Given the description of an element on the screen output the (x, y) to click on. 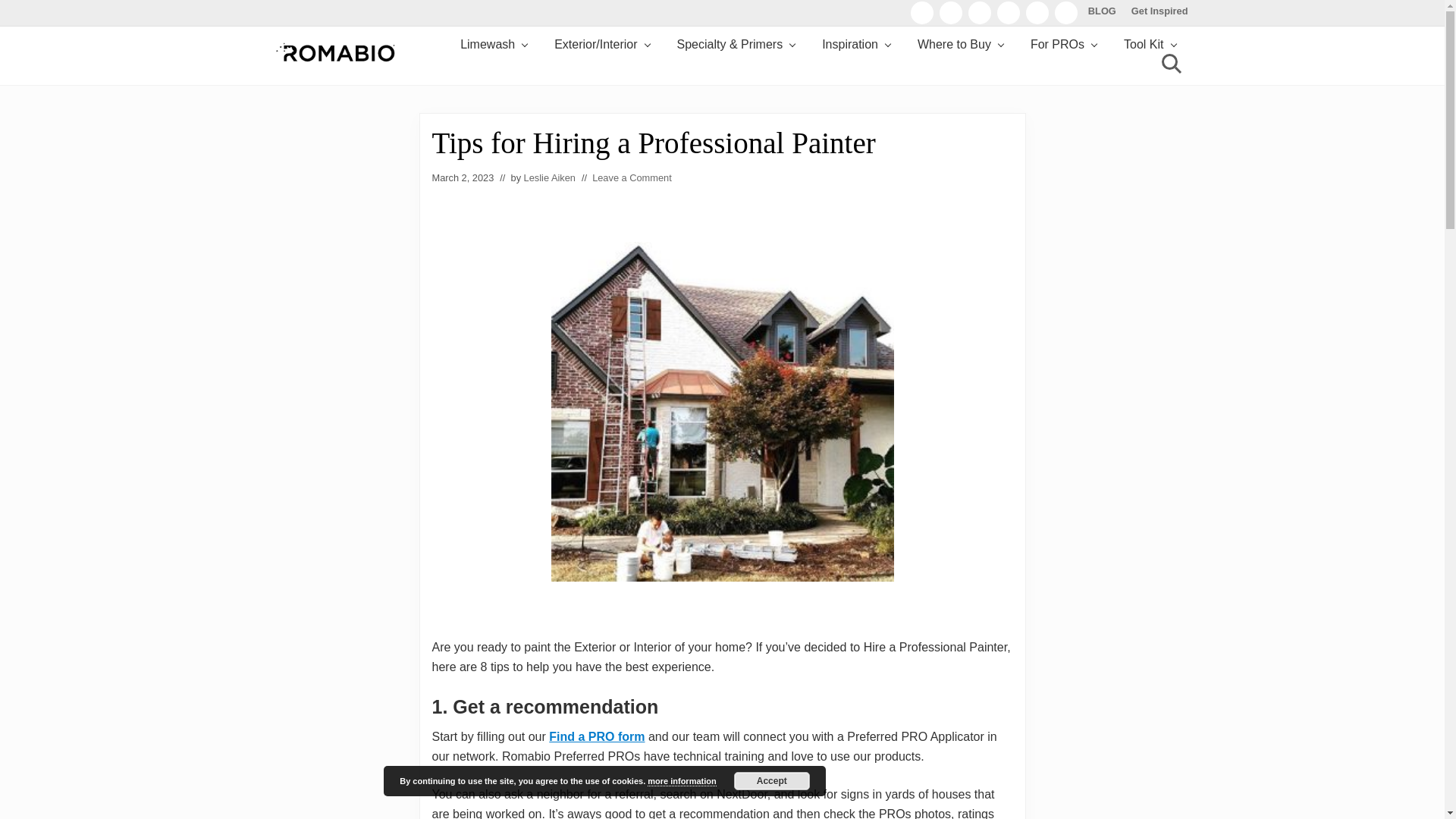
YouTube (1066, 12)
Leave a Comment (631, 177)
Facebook (921, 12)
Instagram (950, 12)
Twitter (1036, 12)
Pinterest (1007, 12)
LinkedIn (979, 12)
